Given the description of an element on the screen output the (x, y) to click on. 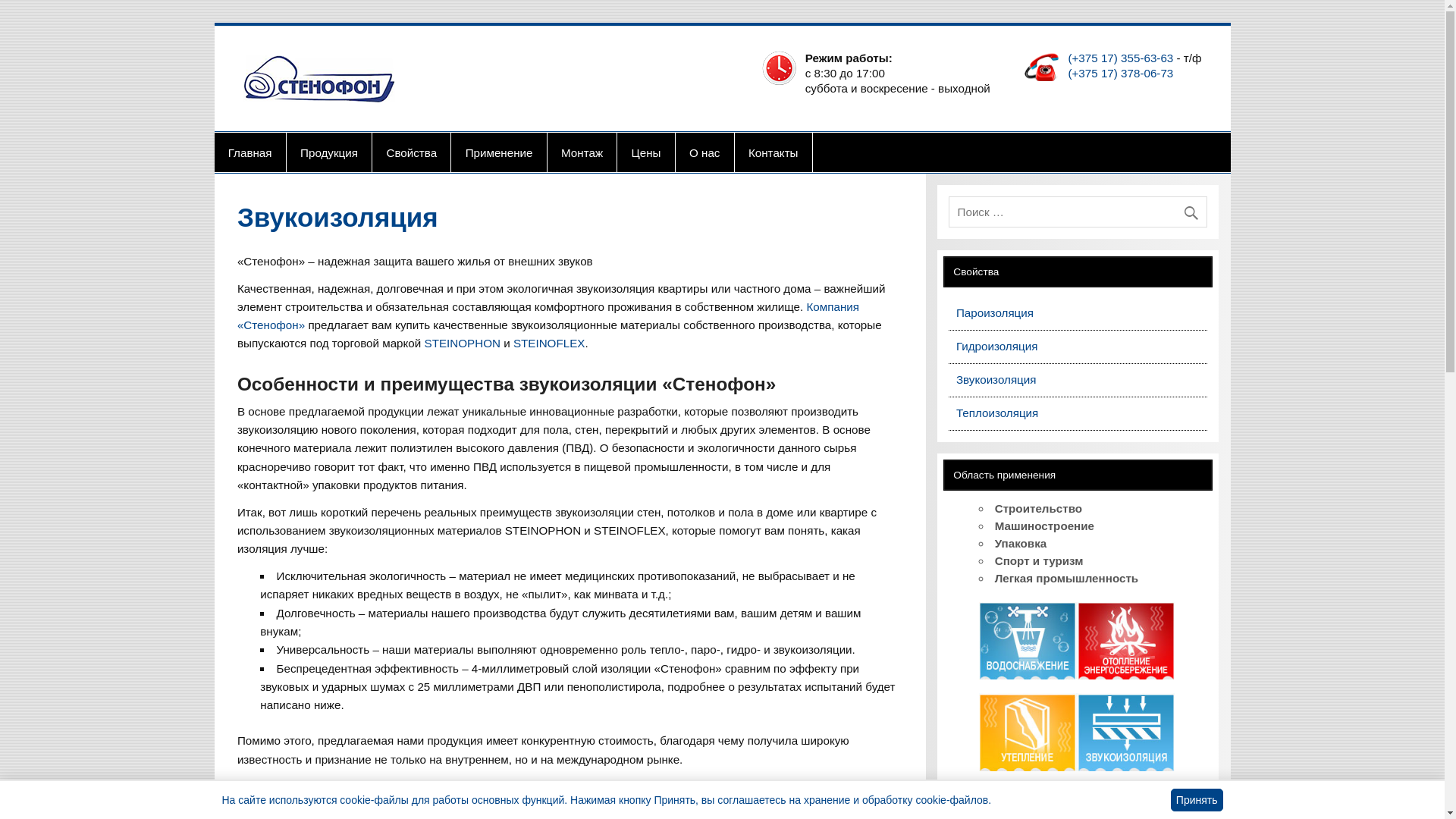
(+375 17) 378-06-73 Element type: text (1120, 72)
(+375 17) 355-63-63 Element type: text (1120, 57)
STEINOFLEX Element type: text (549, 342)
STEINOPHON Element type: text (462, 342)
STEINOPHON-290 Element type: text (517, 785)
STEINOFLEX-400 Element type: text (639, 785)
